Given the description of an element on the screen output the (x, y) to click on. 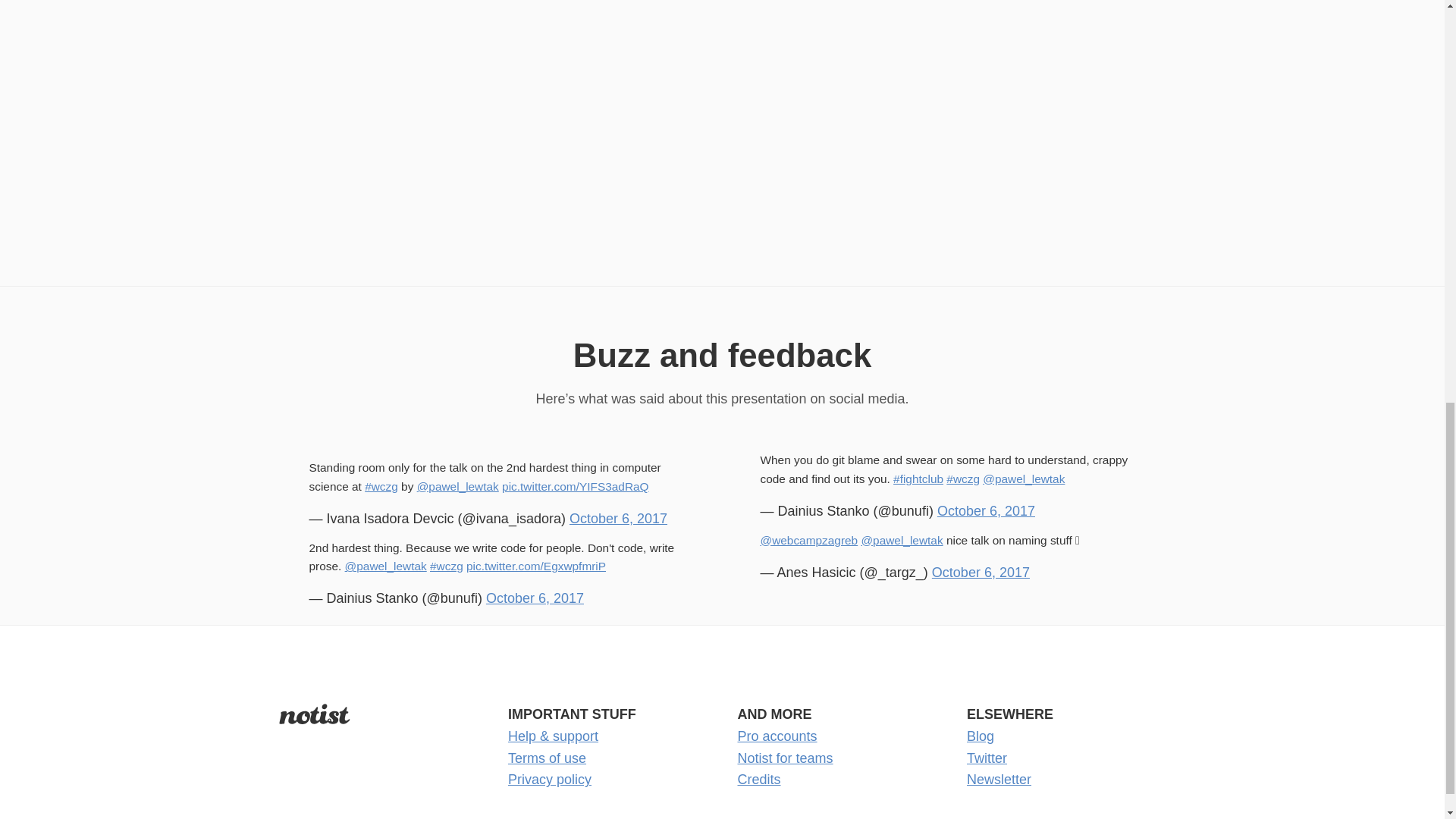
Credits (758, 779)
October 6, 2017 (980, 572)
Privacy policy (549, 779)
October 6, 2017 (534, 598)
October 6, 2017 (617, 518)
Notist for teams (784, 758)
Pro accounts (776, 735)
October 6, 2017 (986, 510)
Terms of use (547, 758)
